Given the description of an element on the screen output the (x, y) to click on. 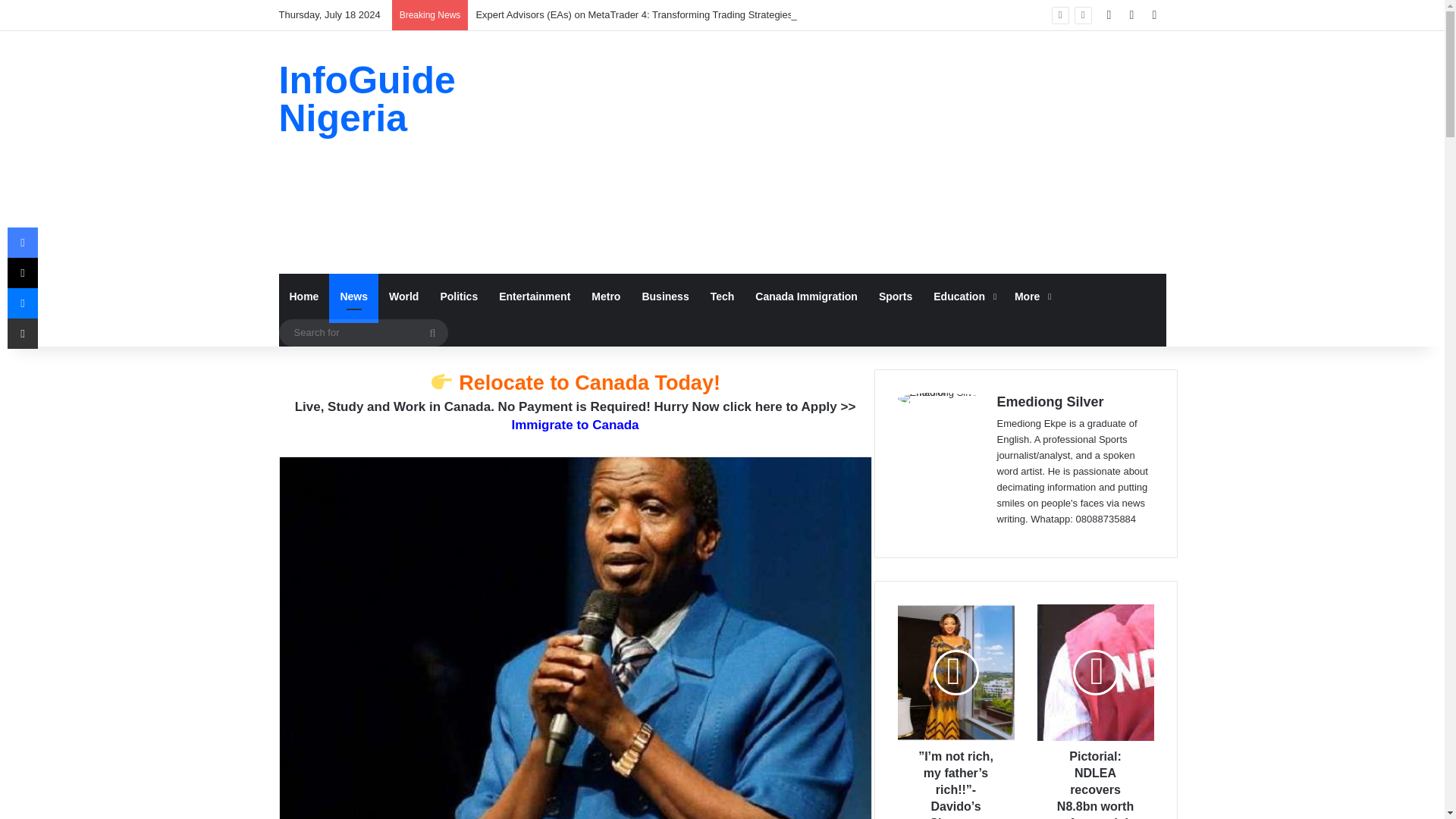
News (353, 296)
Business (664, 296)
Politics (458, 296)
Search for (363, 332)
InfoGuide Nigeria (419, 99)
Entertainment (533, 296)
Home (304, 296)
Immigrate to Canada (575, 424)
Tech (722, 296)
Education (963, 296)
World (403, 296)
Search for (431, 332)
Sports (895, 296)
More (1031, 296)
Canada Immigration (805, 296)
